Given the description of an element on the screen output the (x, y) to click on. 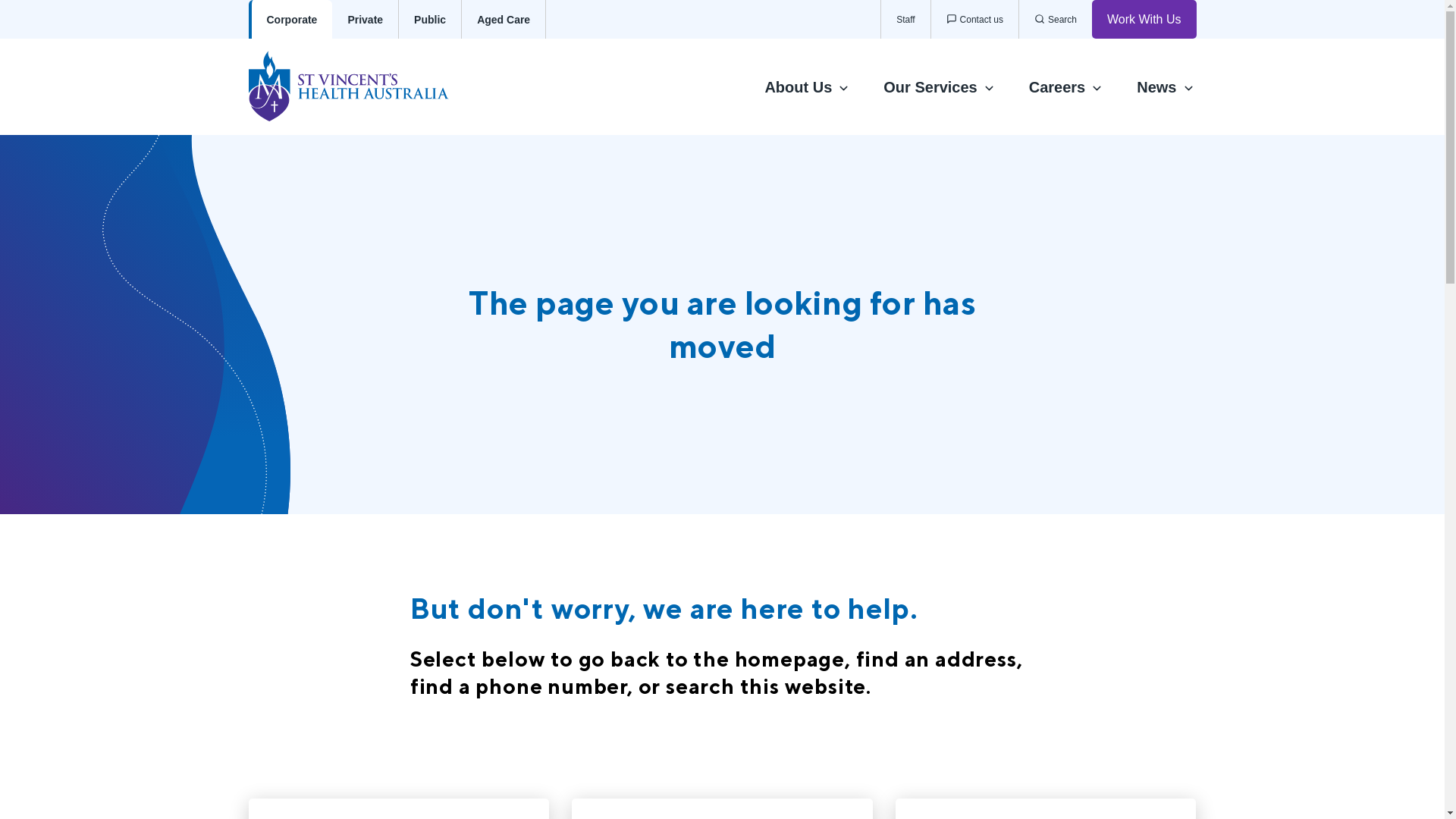
Careers Element type: text (1066, 86)
Corporate Element type: text (290, 19)
Staff Element type: text (904, 19)
Our Services Element type: text (938, 86)
Private Element type: text (365, 19)
About Us Element type: text (806, 86)
Public Element type: text (429, 19)
Search Element type: text (1055, 19)
News Element type: text (1165, 86)
Work With Us Element type: text (1143, 19)
Contact us Element type: text (974, 19)
St Vincents Health Australia Element type: text (363, 85)
Aged Care Element type: text (503, 19)
